Given the description of an element on the screen output the (x, y) to click on. 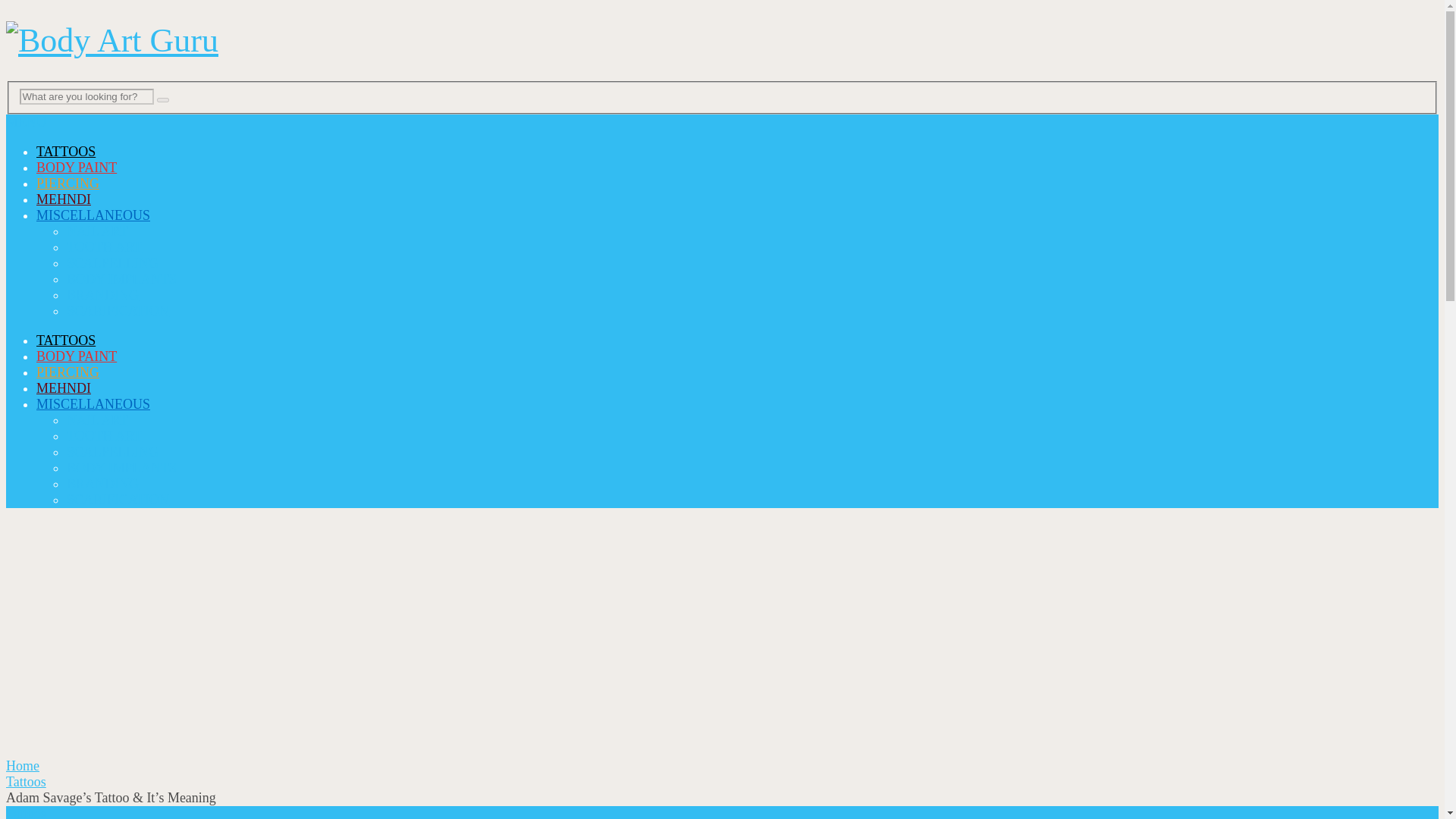
SCALPELLING (112, 451)
TATTOOS (66, 151)
Tattoos (25, 812)
NAIL ART (97, 419)
SCARIFICATION (117, 499)
TOOTH ART (103, 435)
TATTOOS (66, 340)
MEHNDI (63, 387)
BRANDING (102, 483)
PIERCING (67, 183)
